Given the description of an element on the screen output the (x, y) to click on. 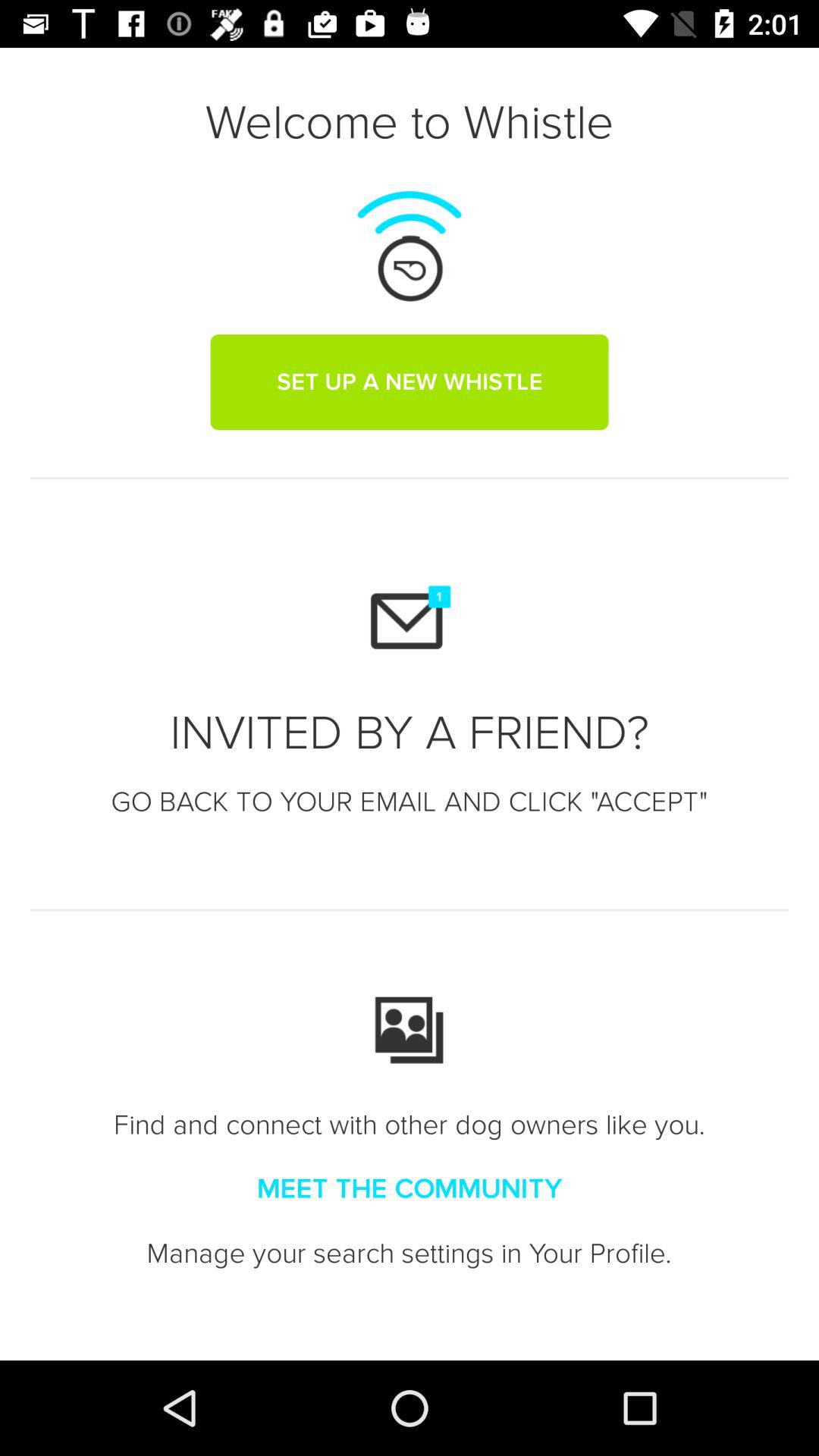
turn on item below the find and connect (409, 1189)
